Given the description of an element on the screen output the (x, y) to click on. 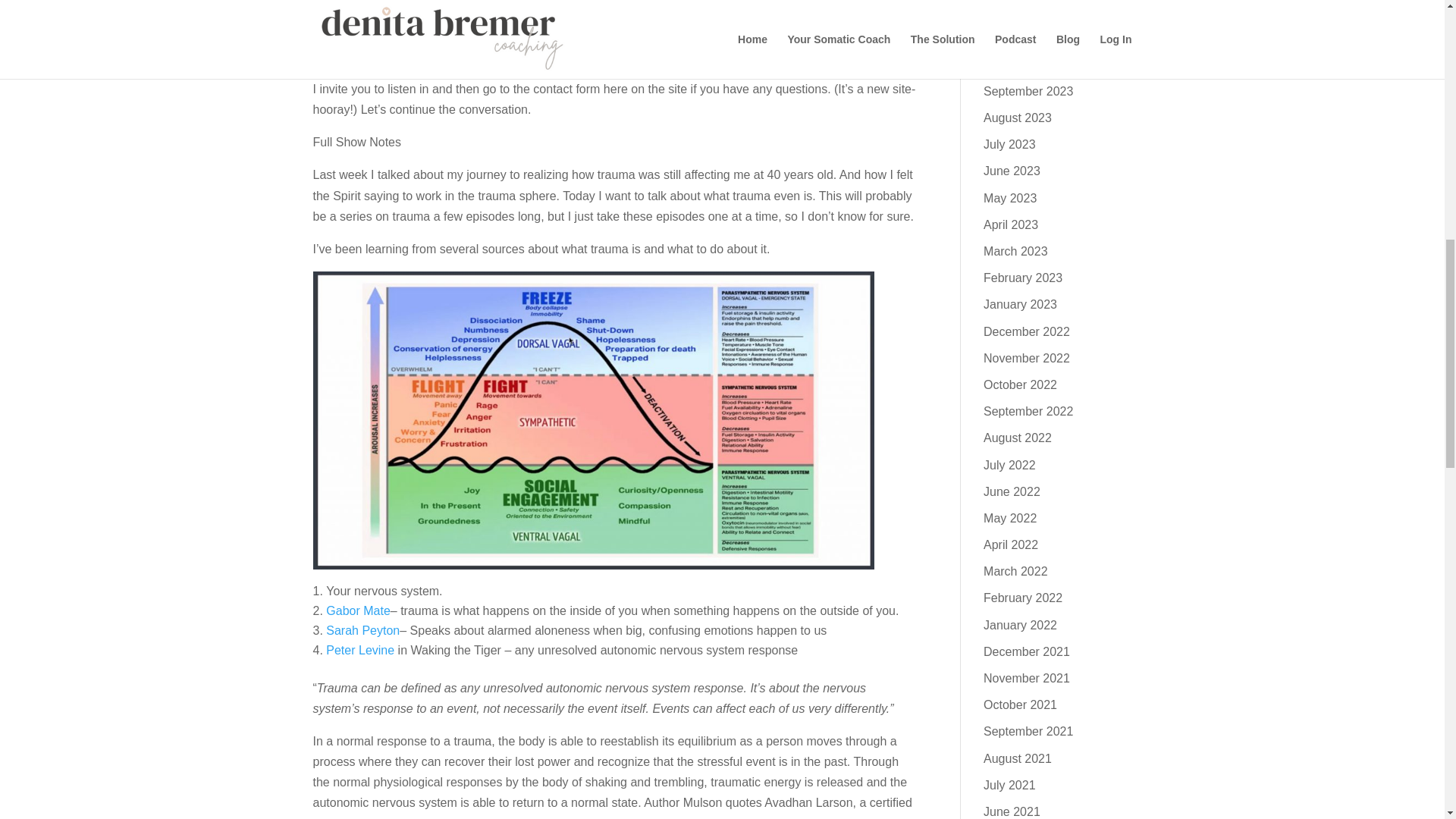
Gabor Mate (358, 610)
Sarah Peyton (362, 630)
November 2023 (1027, 38)
Peter Levine (360, 649)
December 2023 (1027, 10)
